Given the description of an element on the screen output the (x, y) to click on. 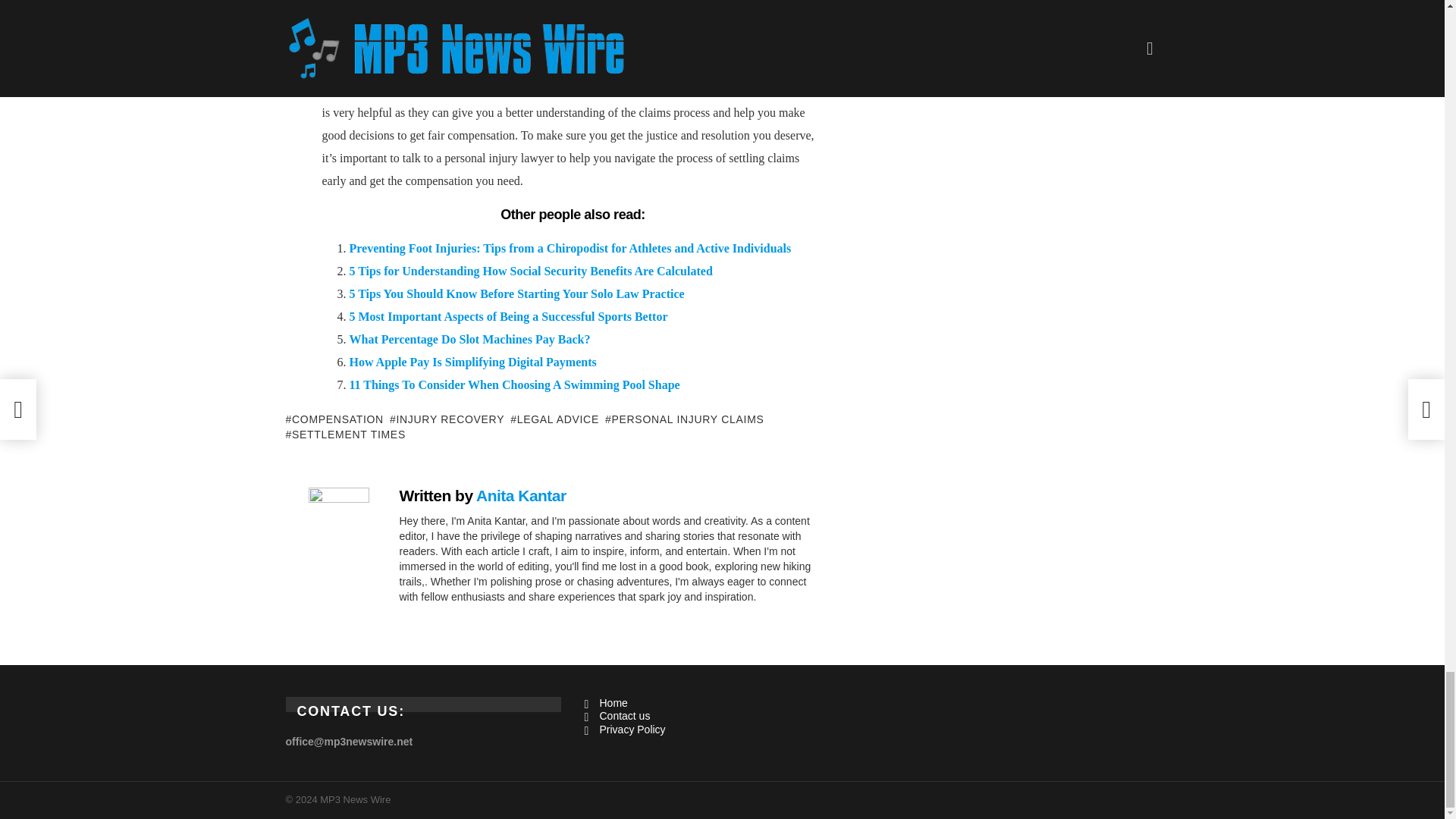
INJURY RECOVERY (446, 418)
5 Most Important Aspects of Being a Successful Sports Bettor (507, 316)
11 Things To Consider When Choosing A Swimming Pool Shape (514, 384)
How Apple Pay Is Simplifying Digital Payments (472, 361)
What Percentage Do Slot Machines Pay Back? (469, 338)
11 Things To Consider When Choosing A Swimming Pool Shape (514, 384)
Anita Kantar (521, 495)
